Given the description of an element on the screen output the (x, y) to click on. 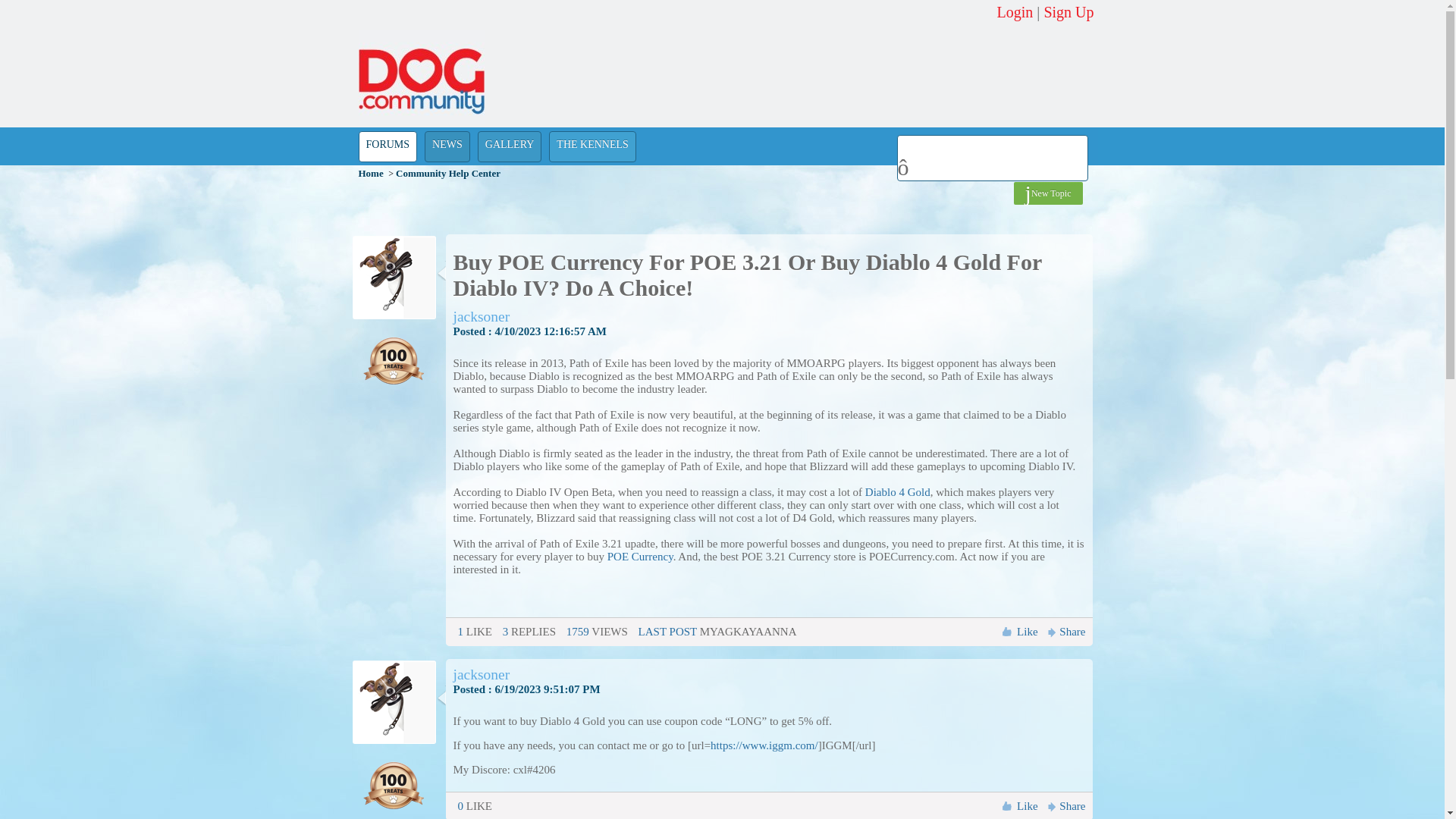
jacksoner (481, 315)
Diablo 4 Gold (897, 491)
FORUMS (387, 146)
New Topic (1048, 192)
POE Currency (639, 556)
Login (1015, 12)
GALLERY (509, 146)
Share (1063, 806)
Advertisement (810, 151)
jacksoner (481, 674)
Home (370, 173)
THE KENNELS (592, 146)
Sign Up (1068, 12)
Diablo 4 Gold (897, 491)
Like (1027, 806)
